Given the description of an element on the screen output the (x, y) to click on. 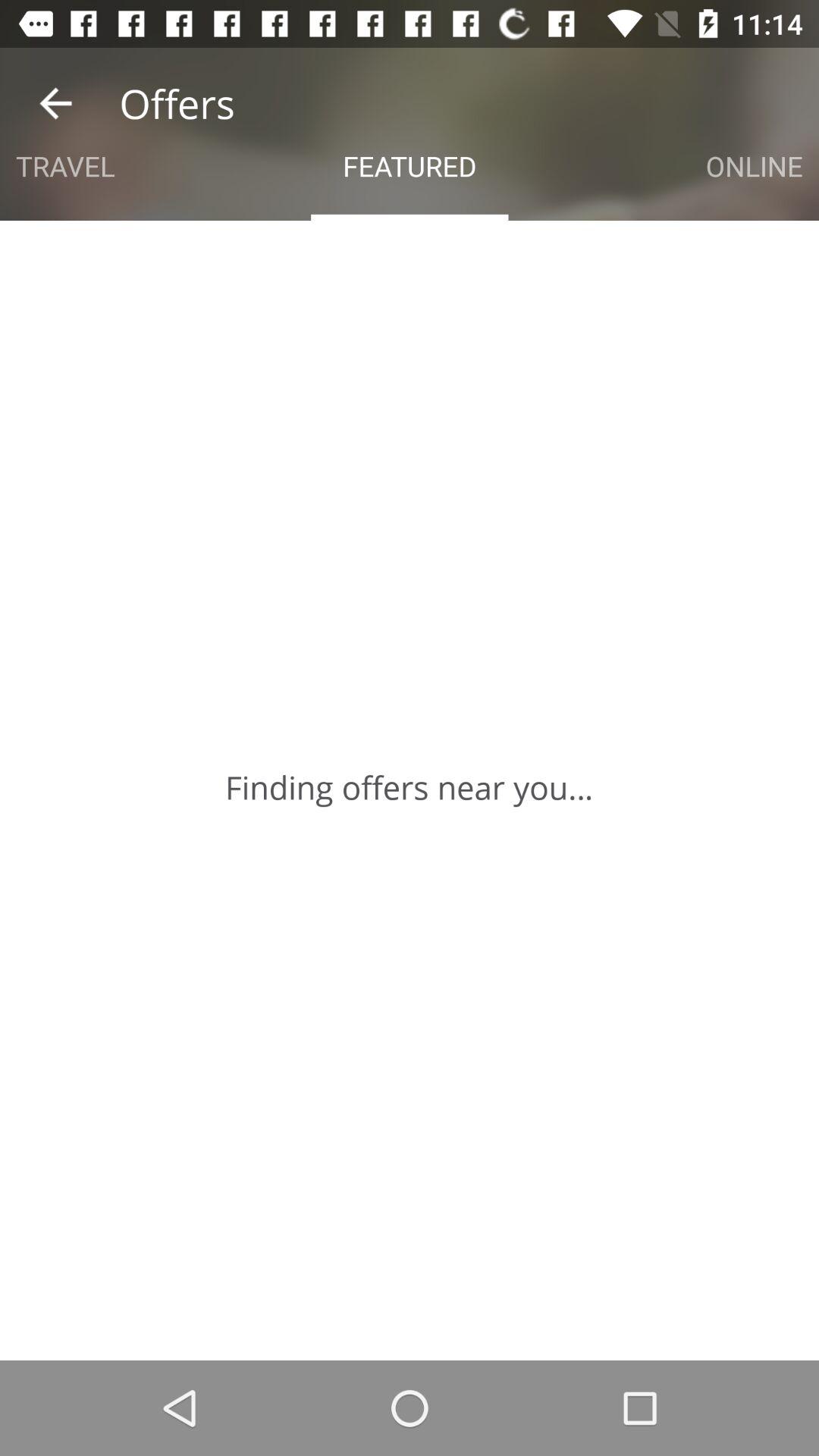
go to previous page (55, 103)
